Given the description of an element on the screen output the (x, y) to click on. 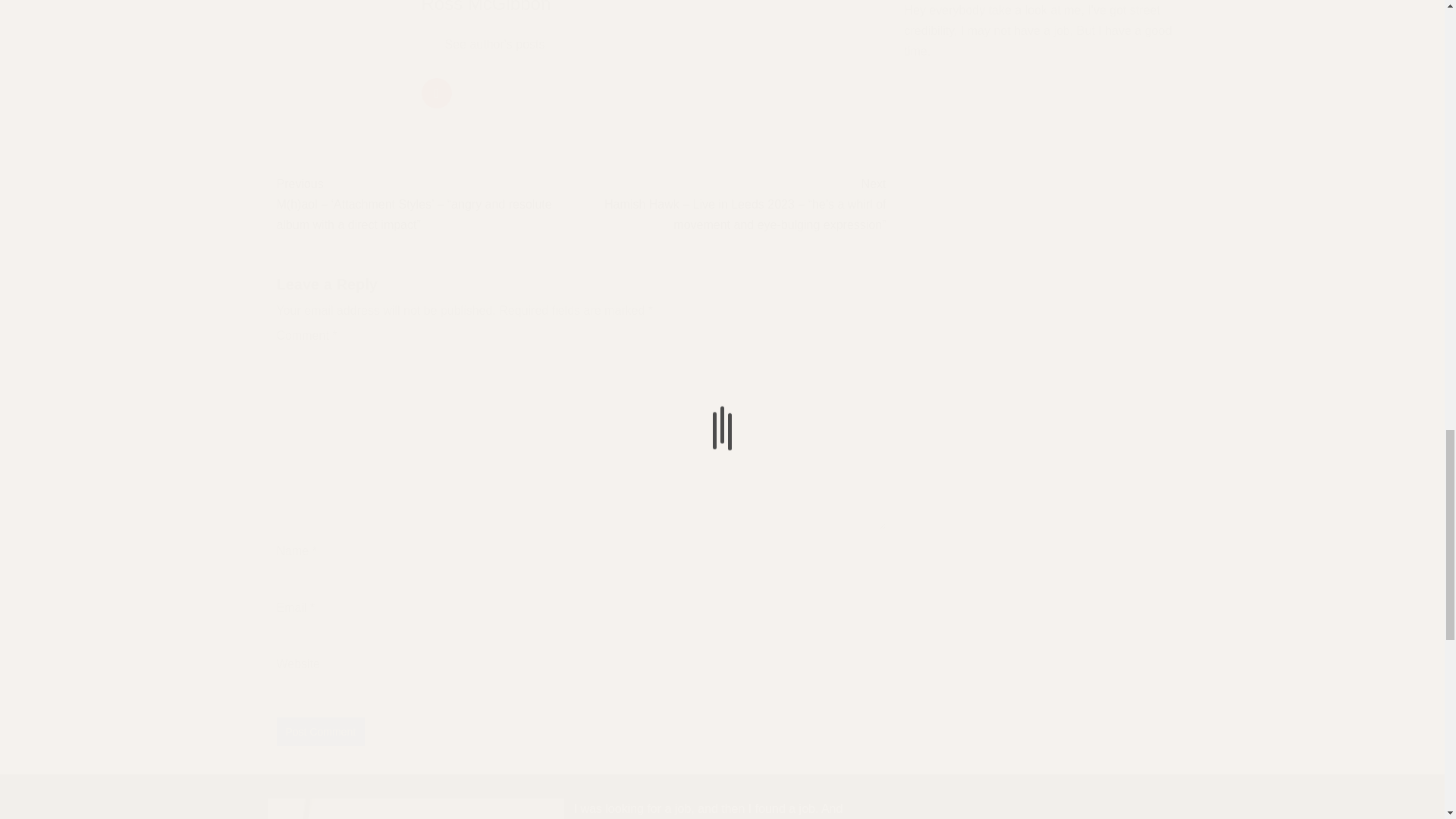
Ross McGibbon (486, 6)
Post Comment (320, 731)
Post Comment (320, 731)
See author's posts (495, 43)
